Given the description of an element on the screen output the (x, y) to click on. 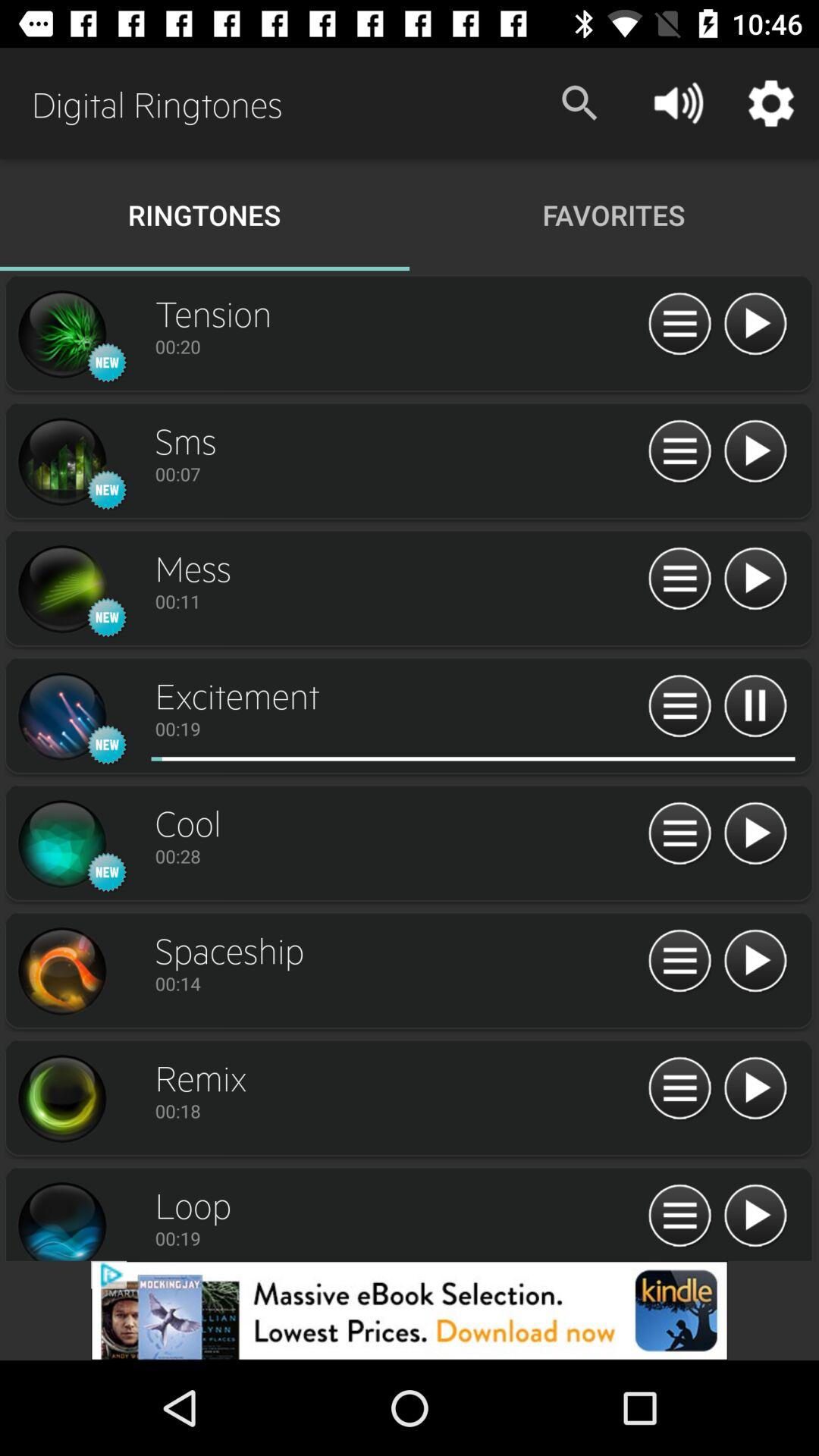
music page (755, 706)
